Given the description of an element on the screen output the (x, y) to click on. 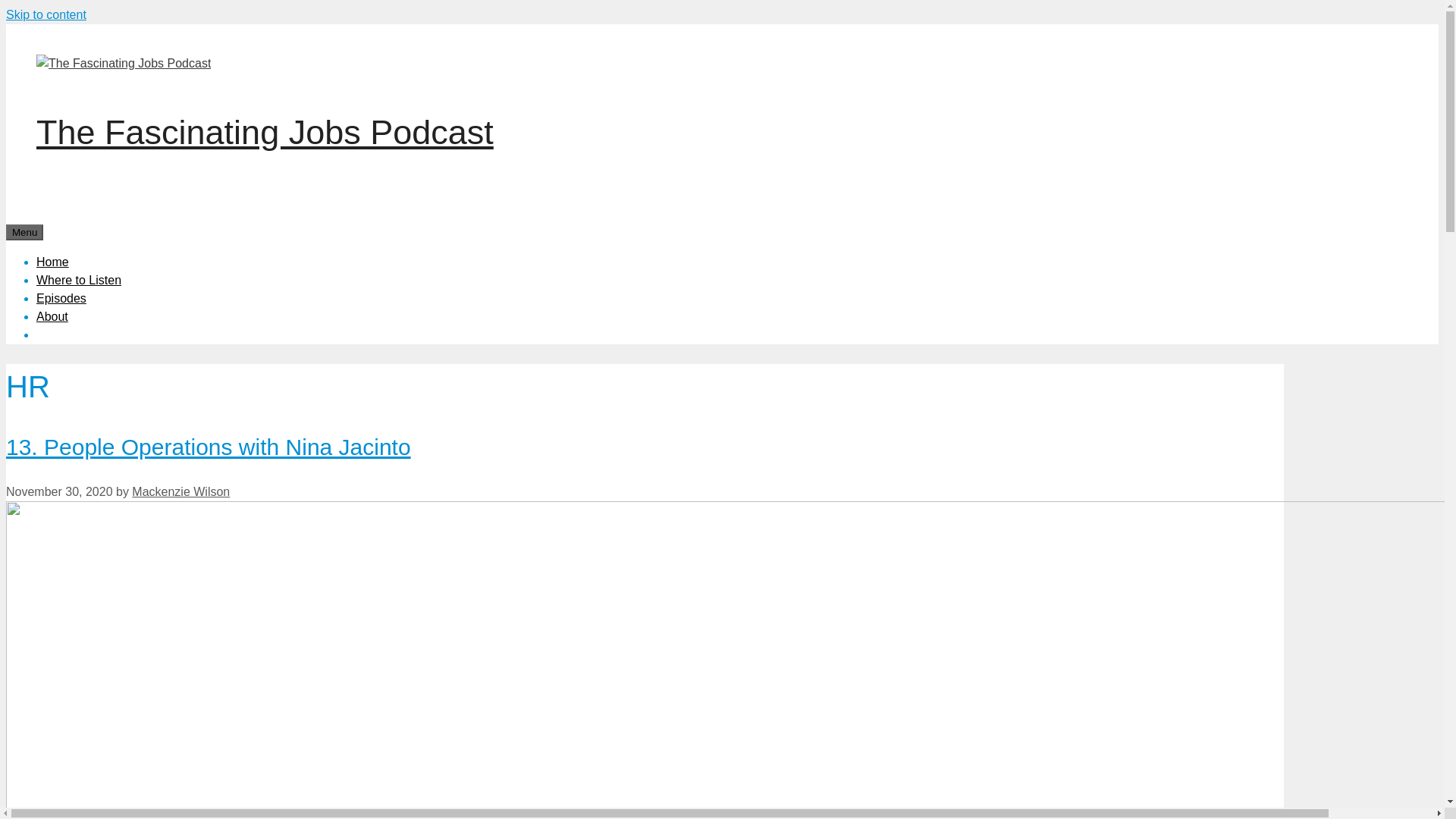
The Fascinating Jobs Podcast (264, 132)
Where to Listen (78, 278)
Mackenzie Wilson (181, 491)
Skip to content (45, 14)
Episodes (60, 297)
13. People Operations with Nina Jacinto (207, 446)
Menu (24, 232)
Home (52, 260)
View all posts by Mackenzie Wilson (181, 491)
About (52, 315)
